Given the description of an element on the screen output the (x, y) to click on. 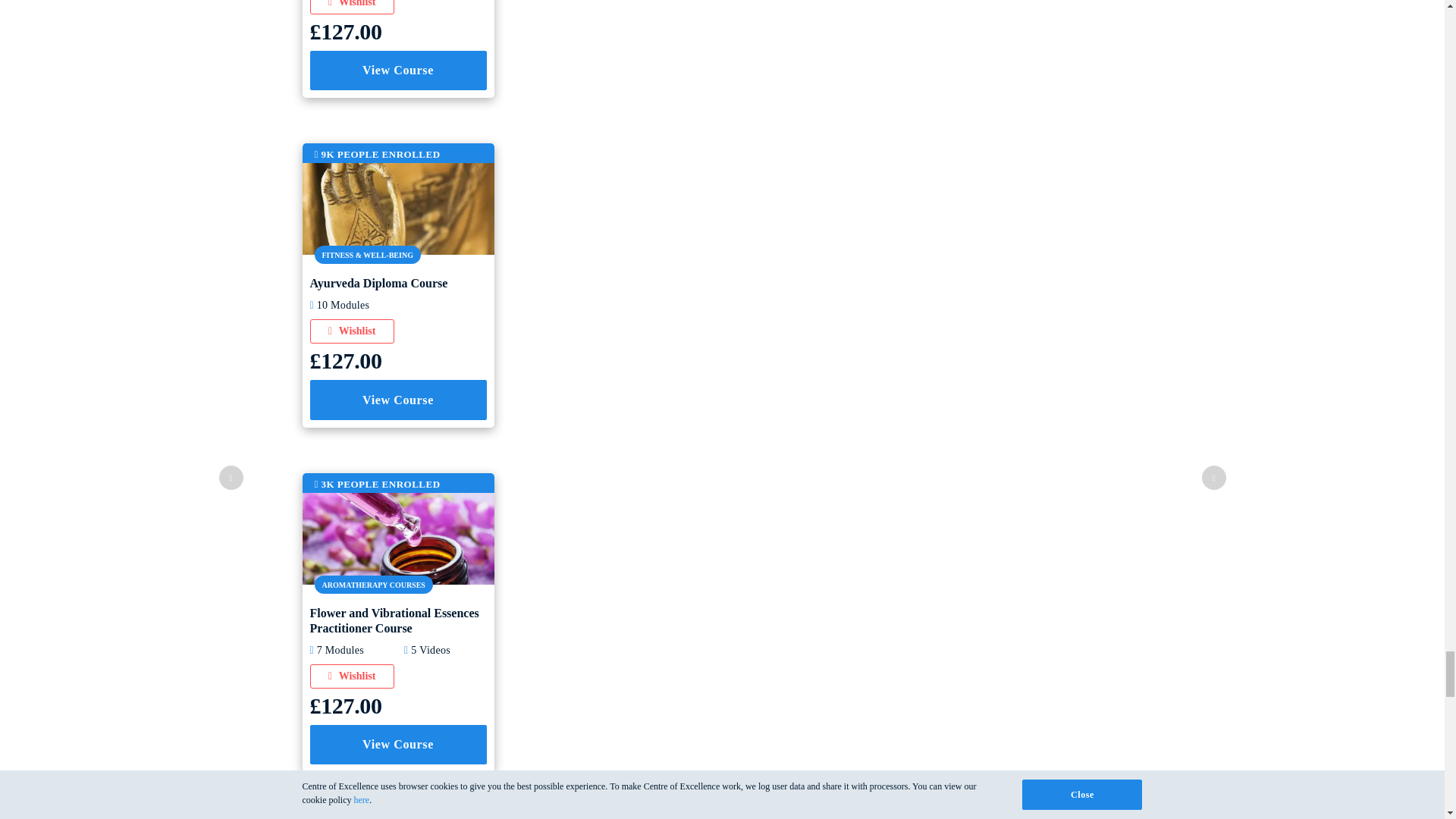
Ayurveda Diploma Course (397, 207)
Flower and Vibrational Essences Practitioner Course (397, 536)
